Given the description of an element on the screen output the (x, y) to click on. 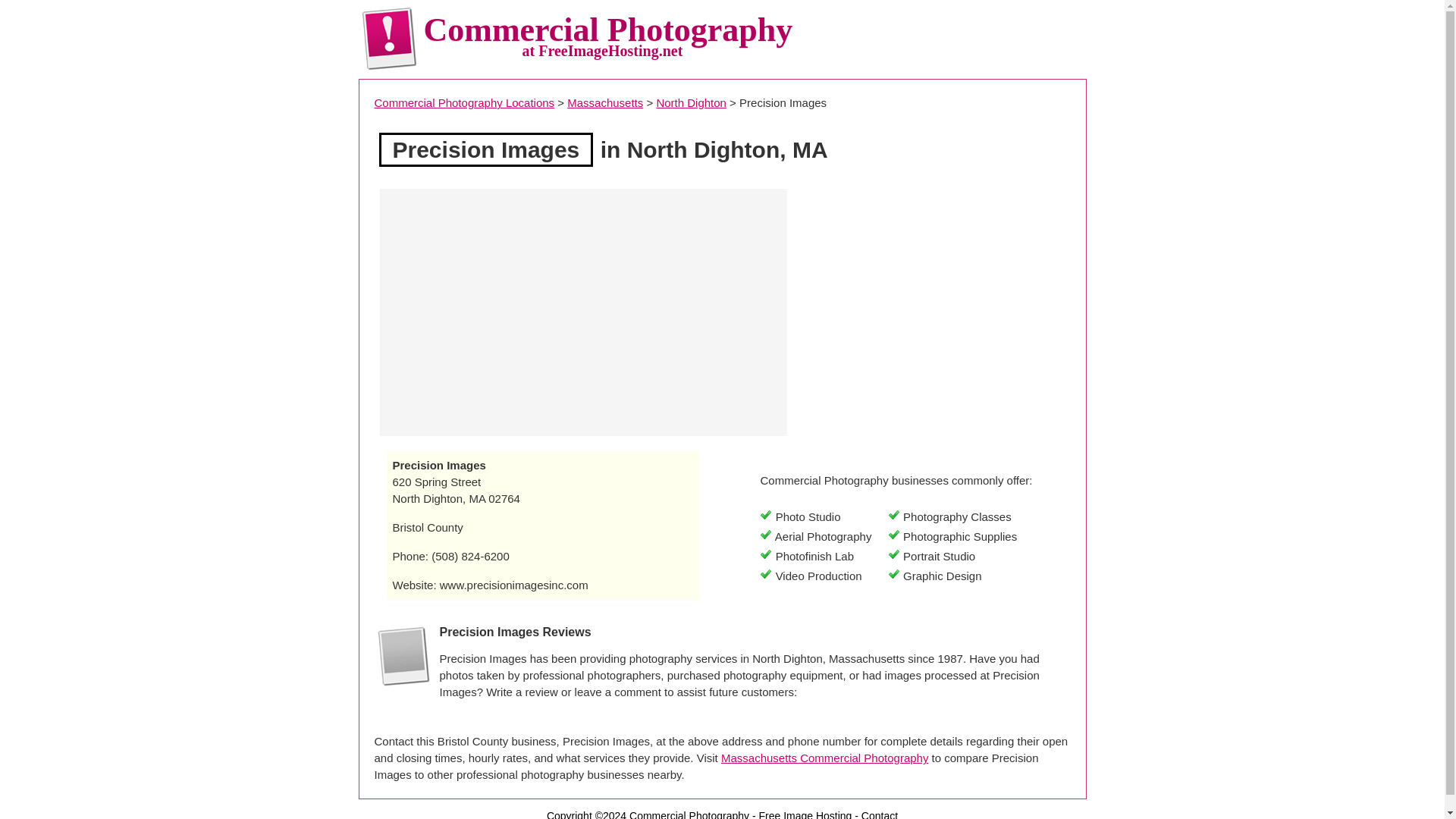
North Dighton (691, 102)
North Dighton Commercial Photography (691, 102)
Massachusetts Commercial Photography (824, 757)
Massachusetts Commercial Photography (605, 102)
Commercial Photography Locations (464, 102)
Commercial Photography Locations (464, 102)
Massachusetts (605, 102)
